Given the description of an element on the screen output the (x, y) to click on. 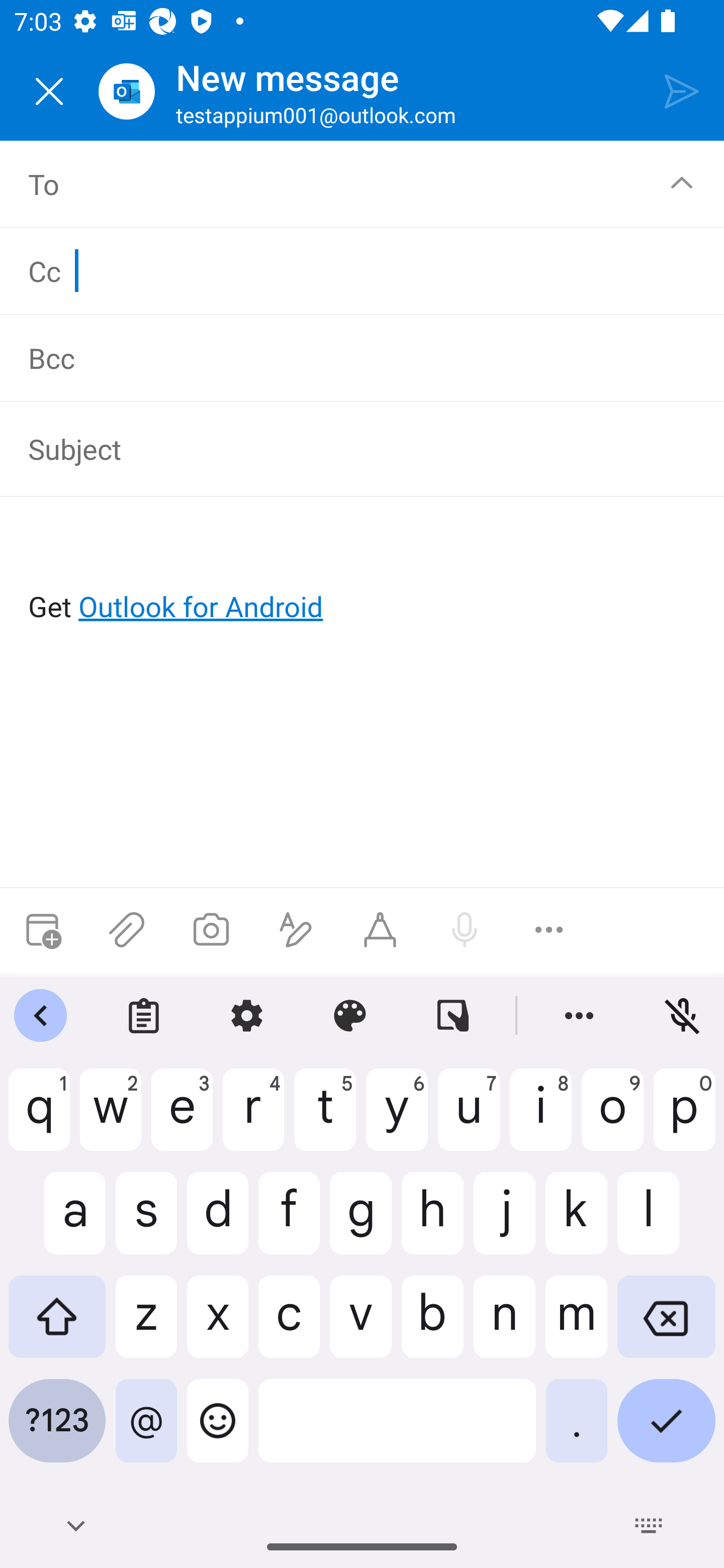
Close (49, 91)
Send (681, 90)
Subject (347, 448)


Get Outlook for Android (363, 573)
Attach meeting (42, 929)
Attach files (126, 929)
Take a photo (210, 929)
Show formatting options (295, 929)
Start Ink compose (380, 929)
More options (548, 929)
